Given the description of an element on the screen output the (x, y) to click on. 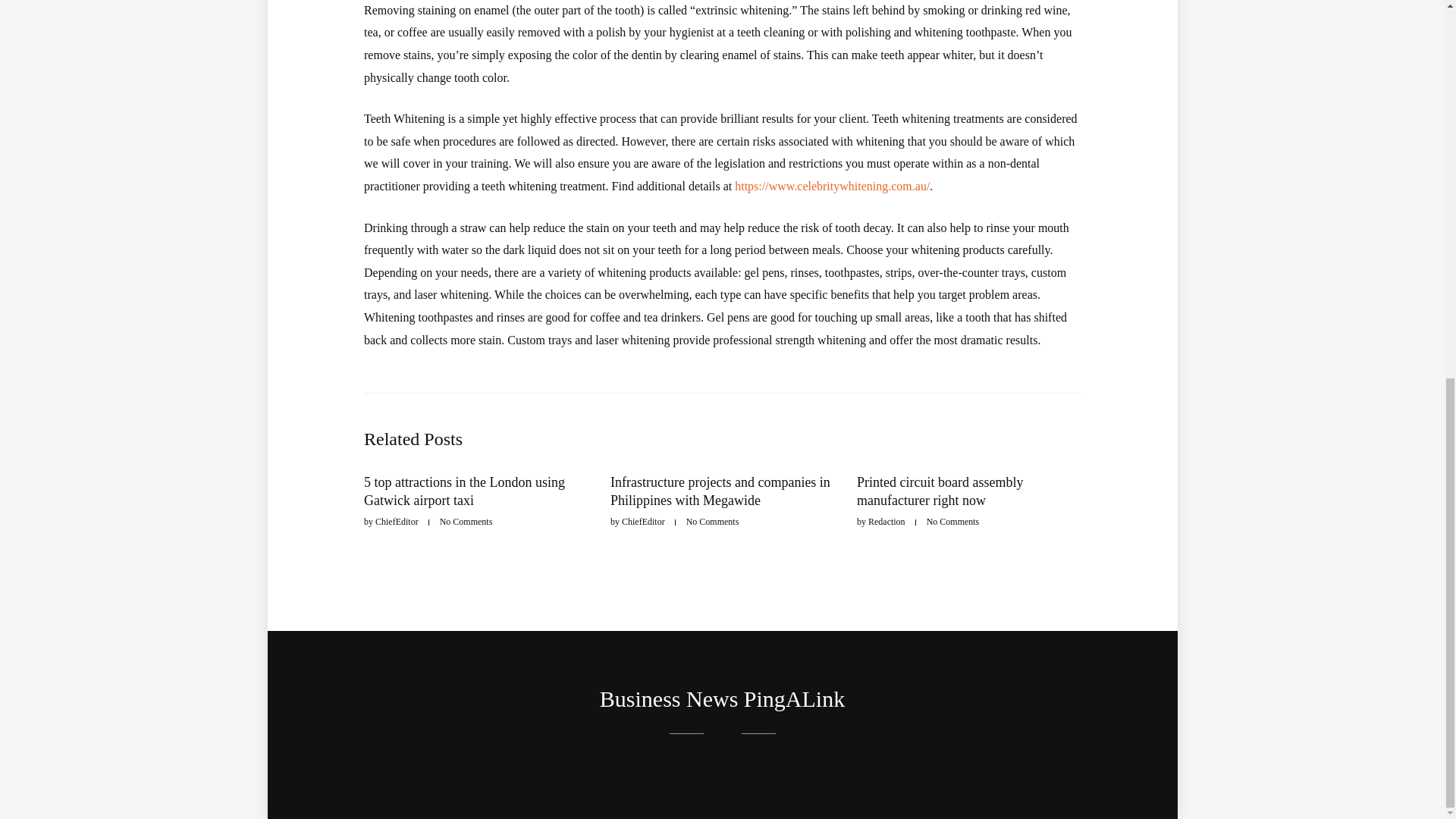
Printed circuit board assembly manufacturer right now (940, 490)
5 top attractions in the London using Gatwick airport taxi (464, 490)
